Given the description of an element on the screen output the (x, y) to click on. 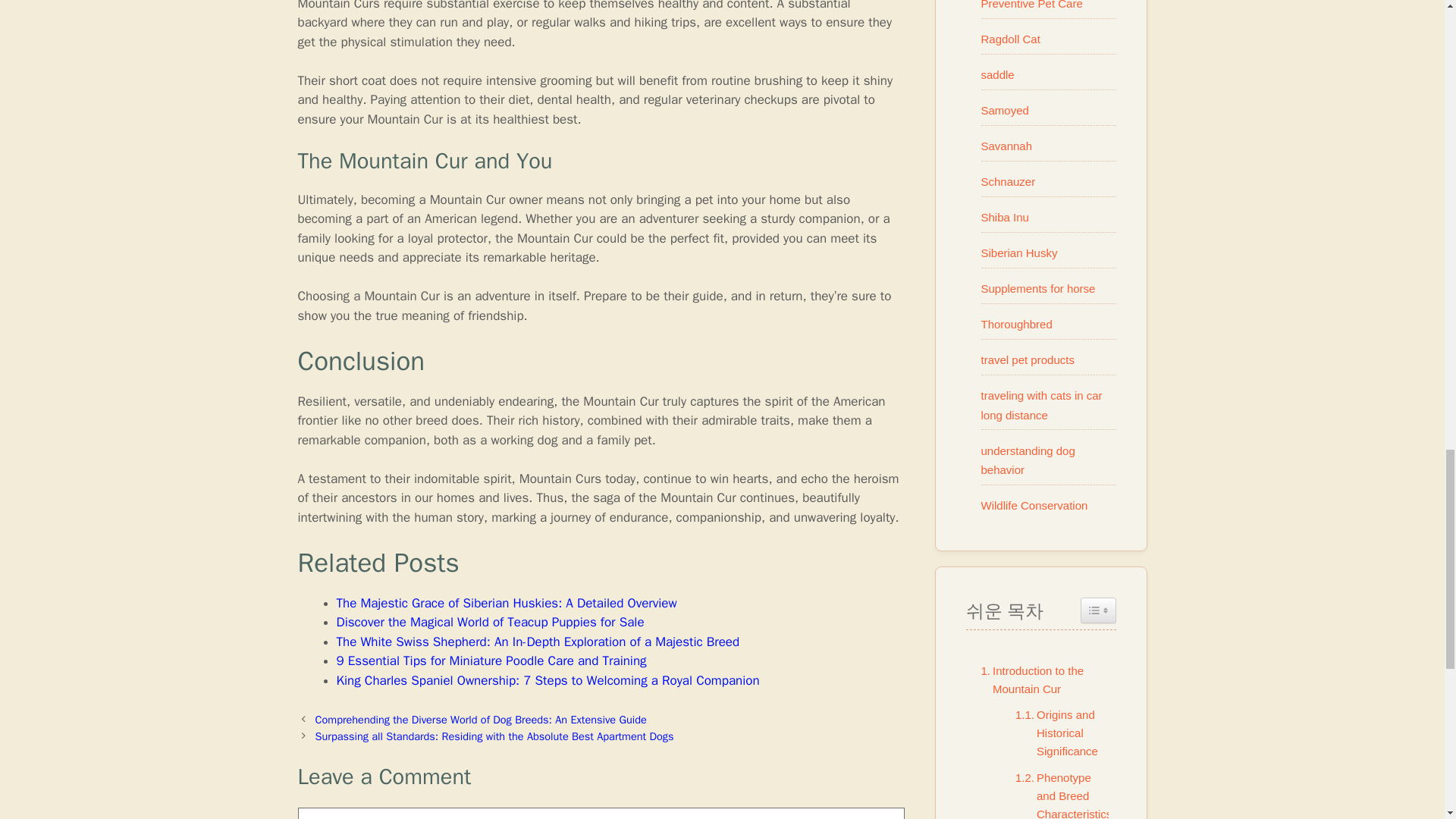
Introduction to the Mountain Cur (1041, 678)
9 Essential Tips for Miniature Poodle Care and Training (491, 660)
Phenotype and Breed Characteristics (1059, 794)
Discover the Magical World of Teacup Puppies for Sale (490, 621)
Origins and Historical Significance (1057, 732)
The Majestic Grace of Siberian Huskies: A Detailed Overview (506, 602)
